Given the description of an element on the screen output the (x, y) to click on. 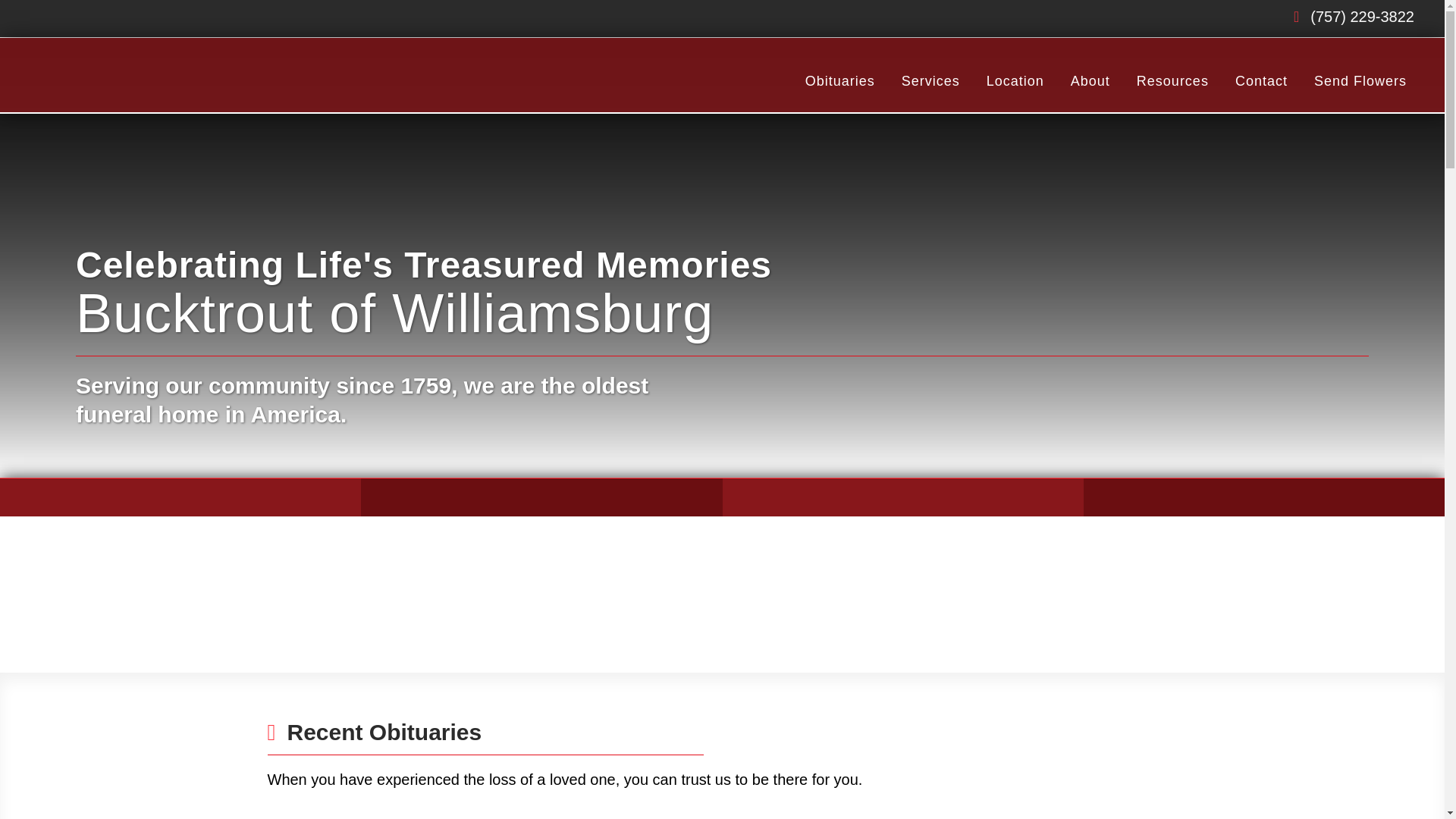
Location (1015, 79)
Obituaries (840, 79)
Send Flowers (1360, 79)
Contact (1260, 79)
